Given the description of an element on the screen output the (x, y) to click on. 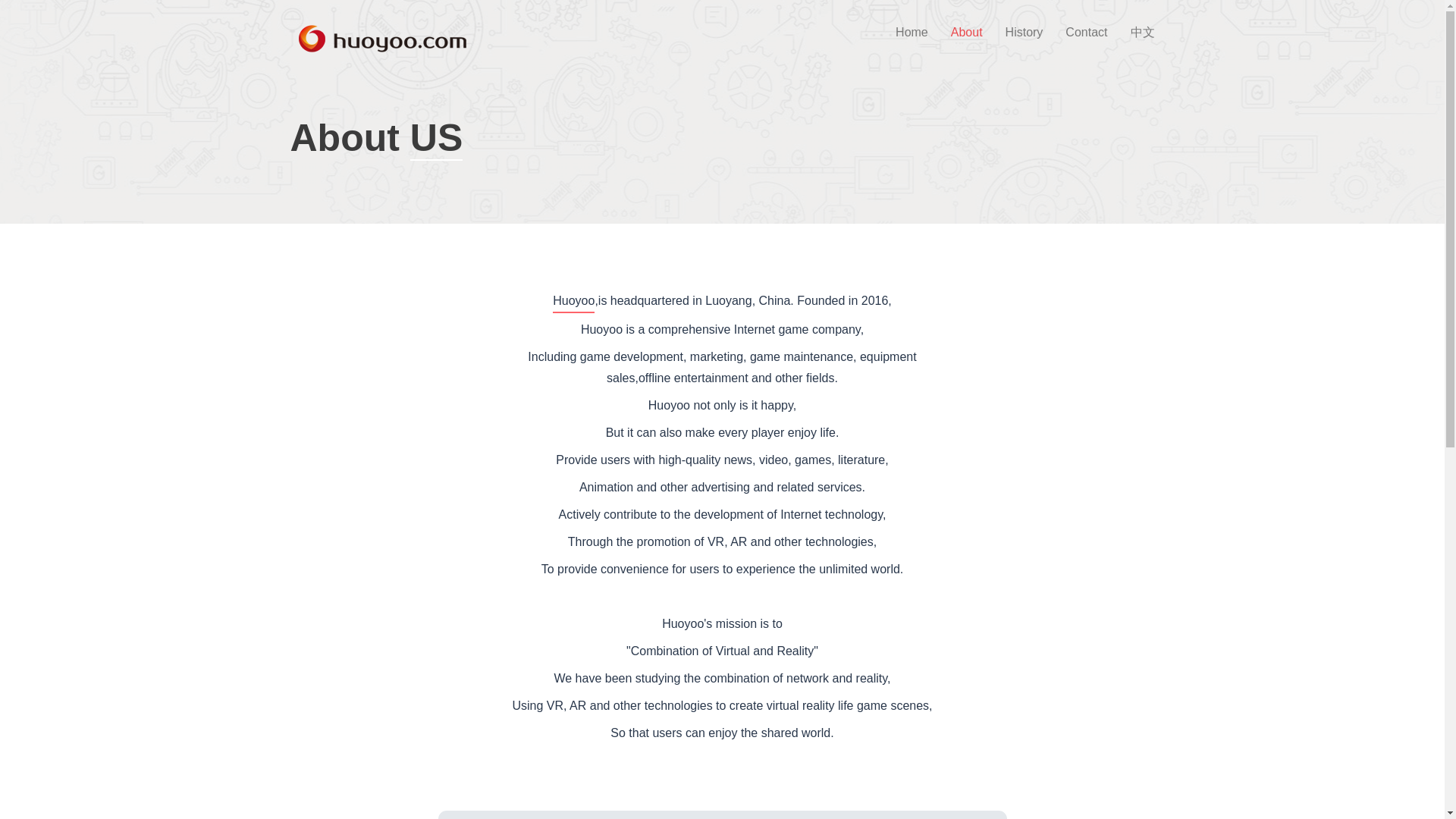
History (1024, 32)
Contact (1086, 32)
About (966, 32)
Home (911, 32)
